Given the description of an element on the screen output the (x, y) to click on. 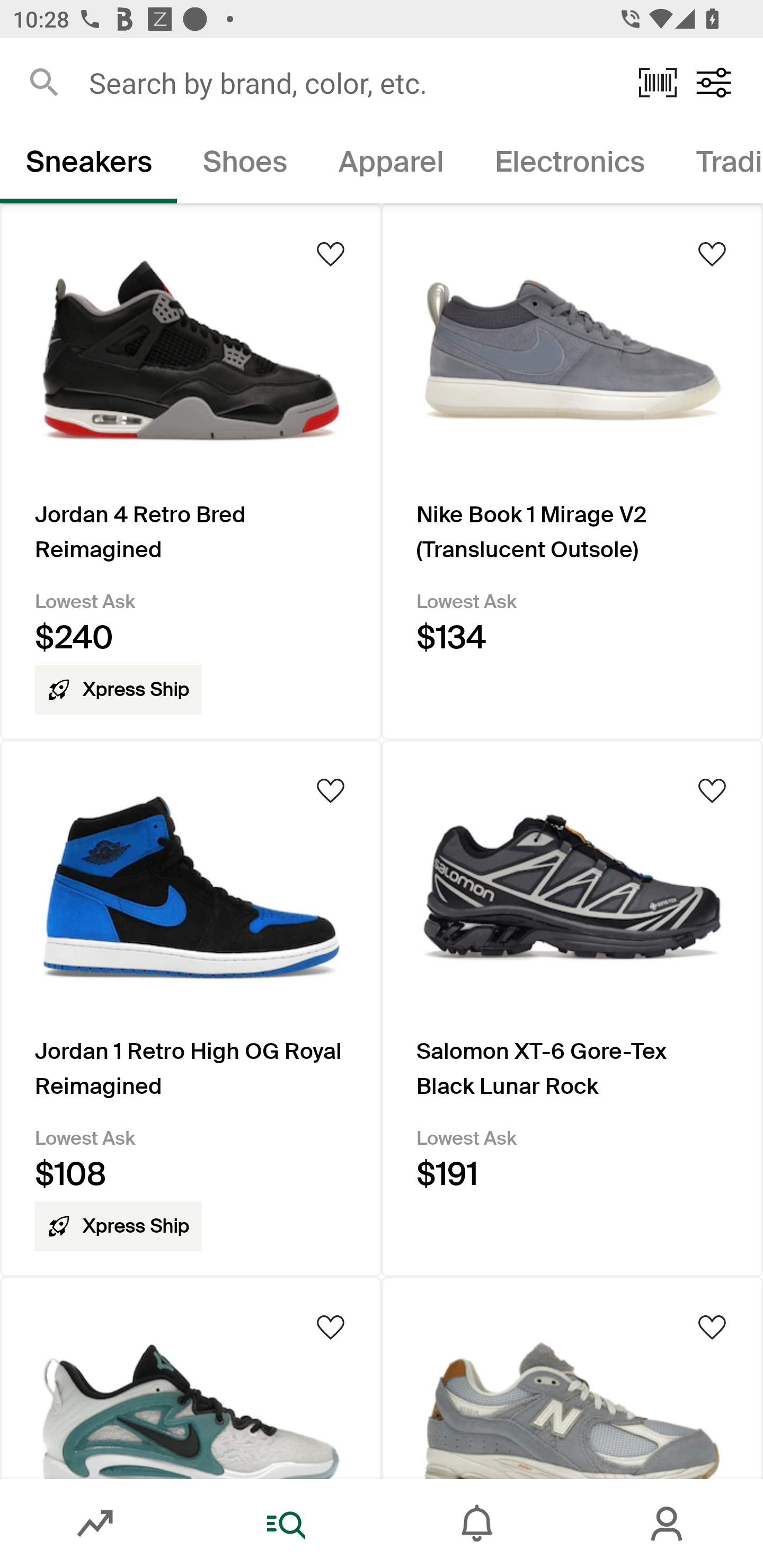
Search by brand, color, etc. (351, 82)
Shoes (244, 165)
Apparel (390, 165)
Electronics (569, 165)
Trading Cards (716, 165)
Product Image (190, 1377)
Product Image (572, 1377)
Market (95, 1523)
Inbox (476, 1523)
Account (667, 1523)
